Given the description of an element on the screen output the (x, y) to click on. 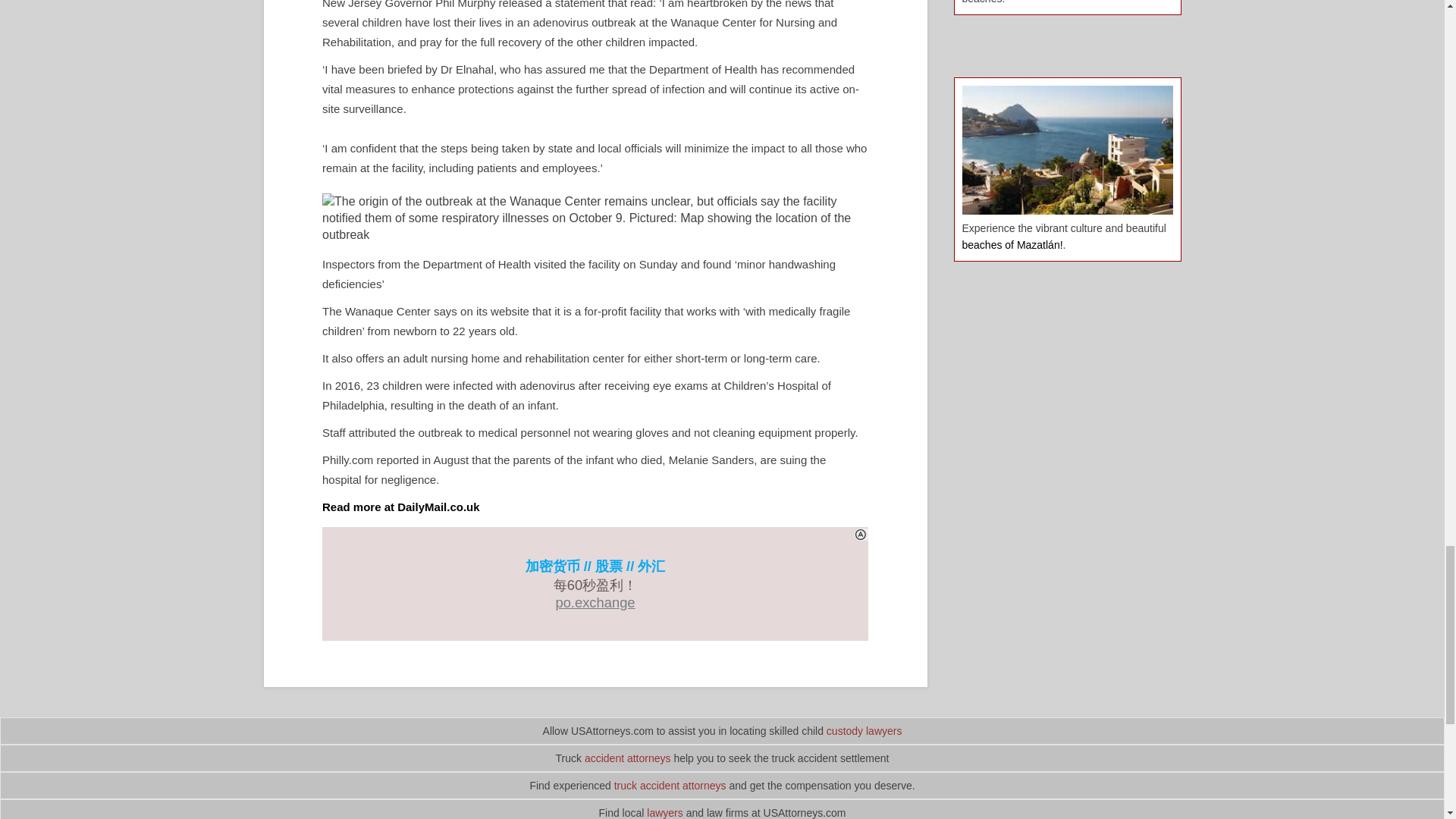
Read more at DailyMail.co.uk (400, 506)
lawyers (664, 812)
truck accident attorneys (670, 785)
custody lawyers (864, 730)
accident attorneys (628, 758)
